Given the description of an element on the screen output the (x, y) to click on. 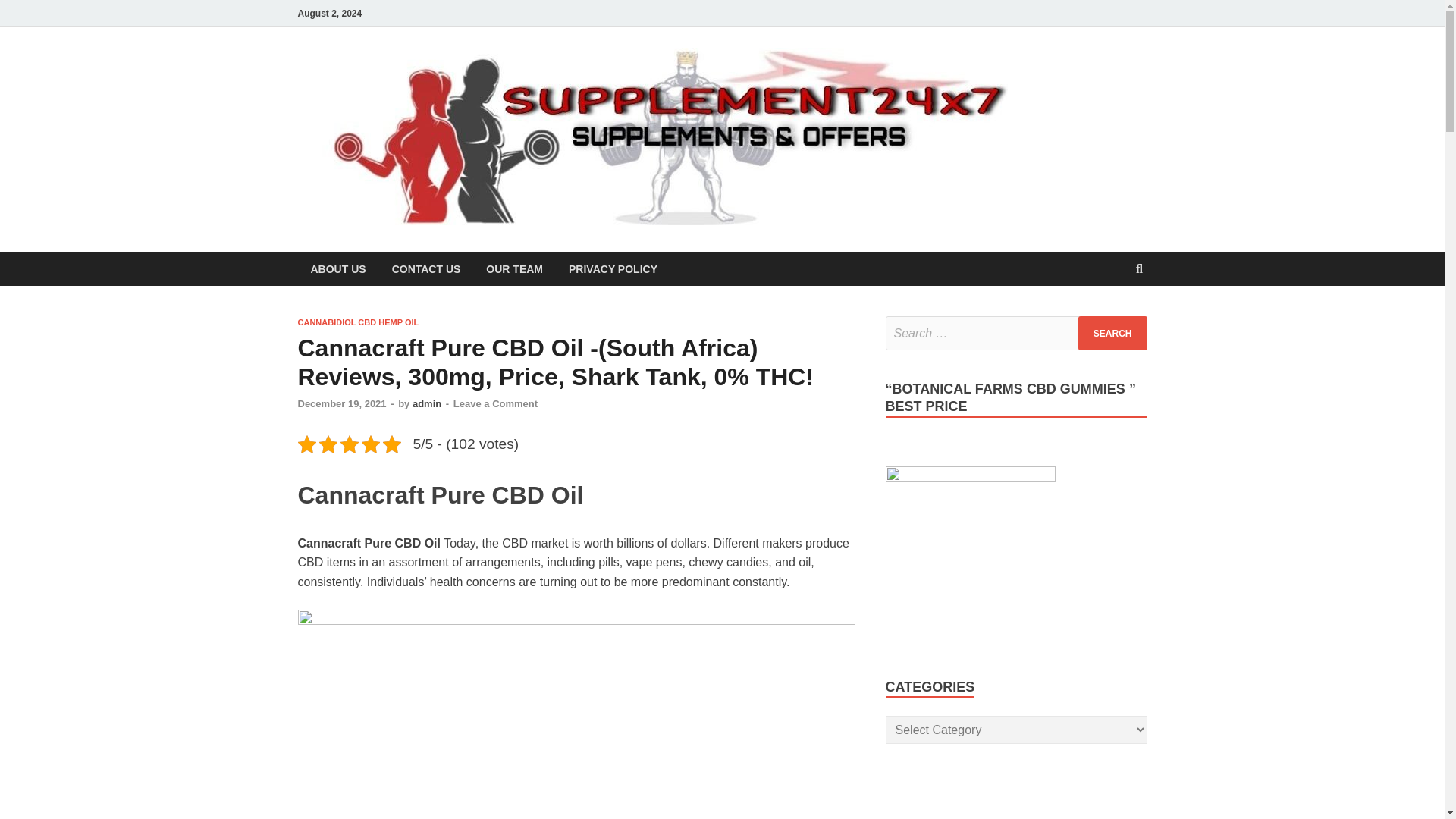
December 19, 2021 (341, 403)
OUR TEAM (514, 268)
Search (1112, 333)
Search (1112, 333)
PRIVACY POLICY (612, 268)
ABOUT US (337, 268)
admin (426, 403)
Leave a Comment (494, 403)
CONTACT US (426, 268)
Search (1112, 333)
SUPPLEMENTS 24 x 7 (1156, 95)
CANNABIDIOL CBD HEMP OIL (358, 321)
Cannacraft Pure CBD Oil (575, 714)
